Given the description of an element on the screen output the (x, y) to click on. 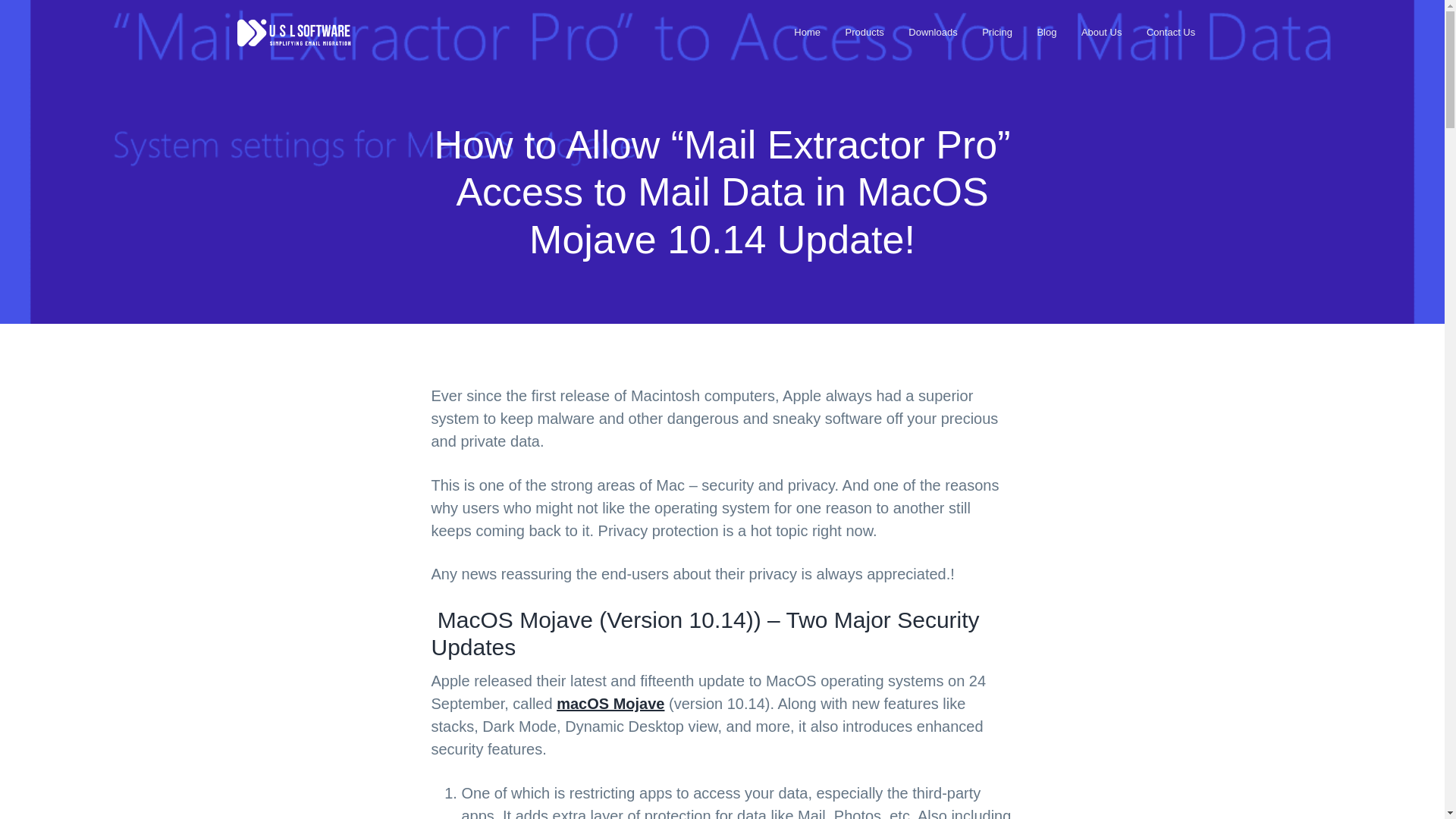
Blog (1046, 31)
Downloads (932, 31)
Home (806, 31)
Pricing (997, 31)
About Us (1101, 31)
Contact Us (1171, 31)
Products (864, 31)
macOS Mojave (609, 703)
